Given the description of an element on the screen output the (x, y) to click on. 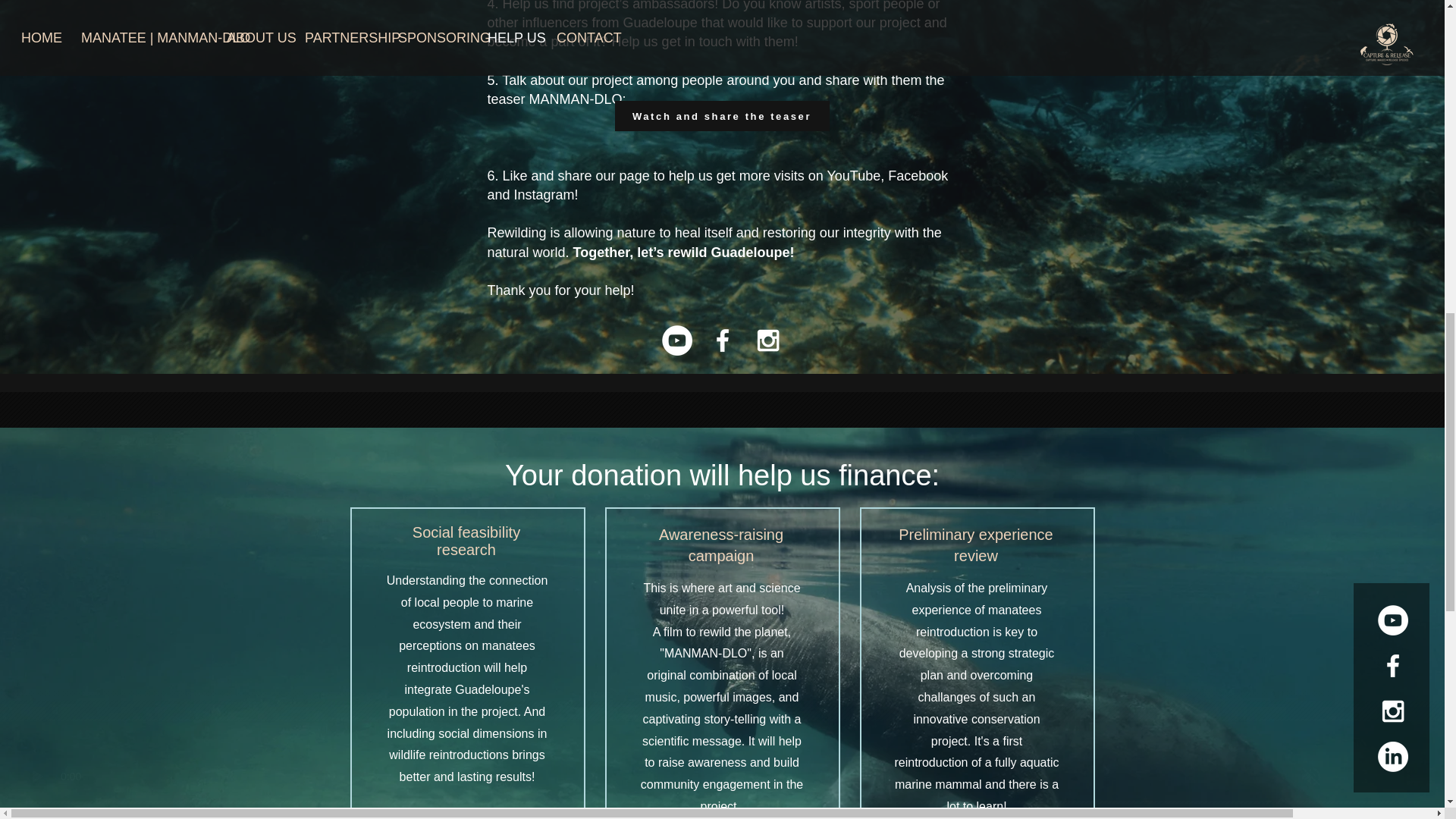
Watch and share the teaser (721, 115)
